Given the description of an element on the screen output the (x, y) to click on. 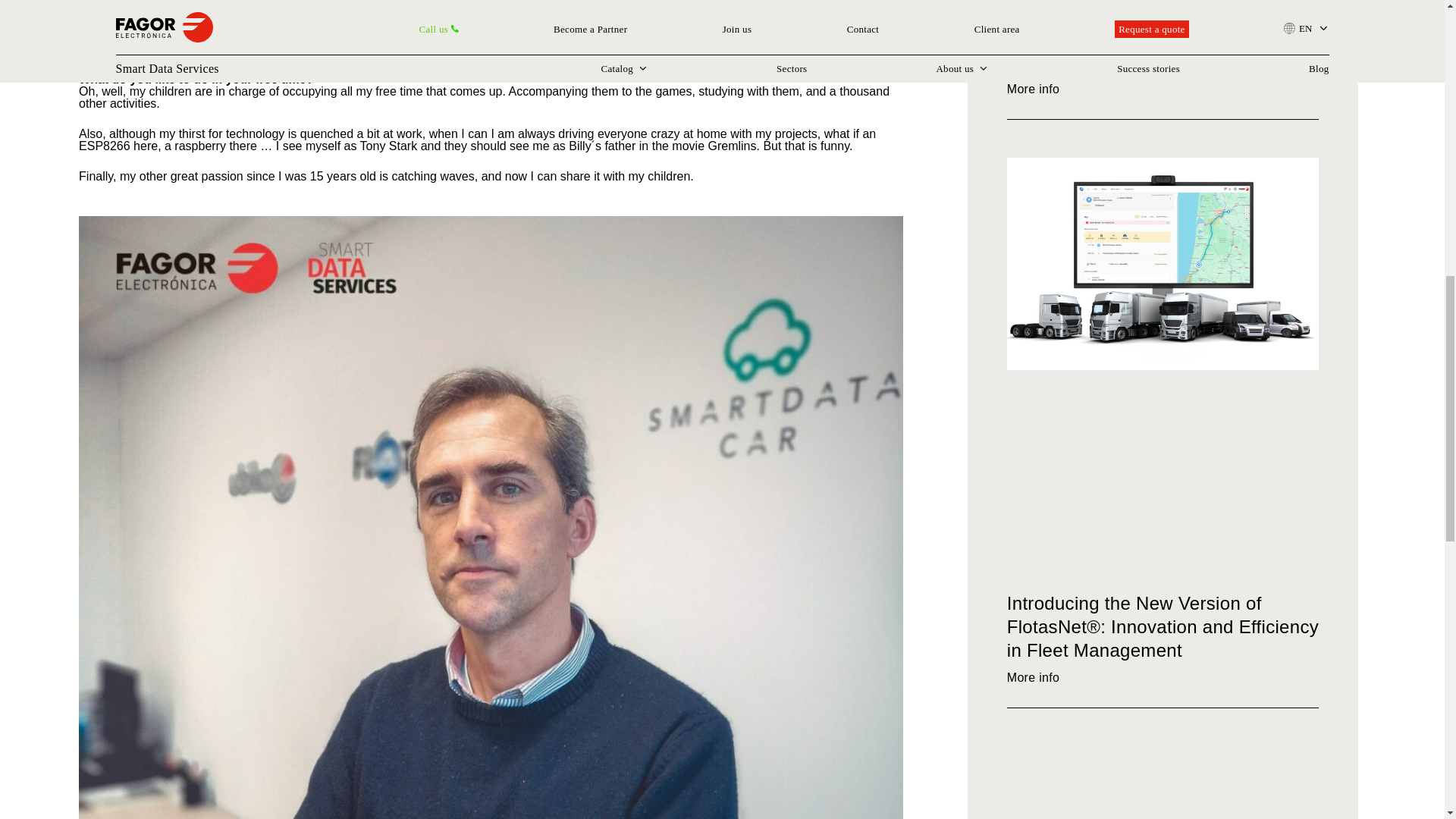
More info (1042, 676)
More info (1042, 88)
